Given the description of an element on the screen output the (x, y) to click on. 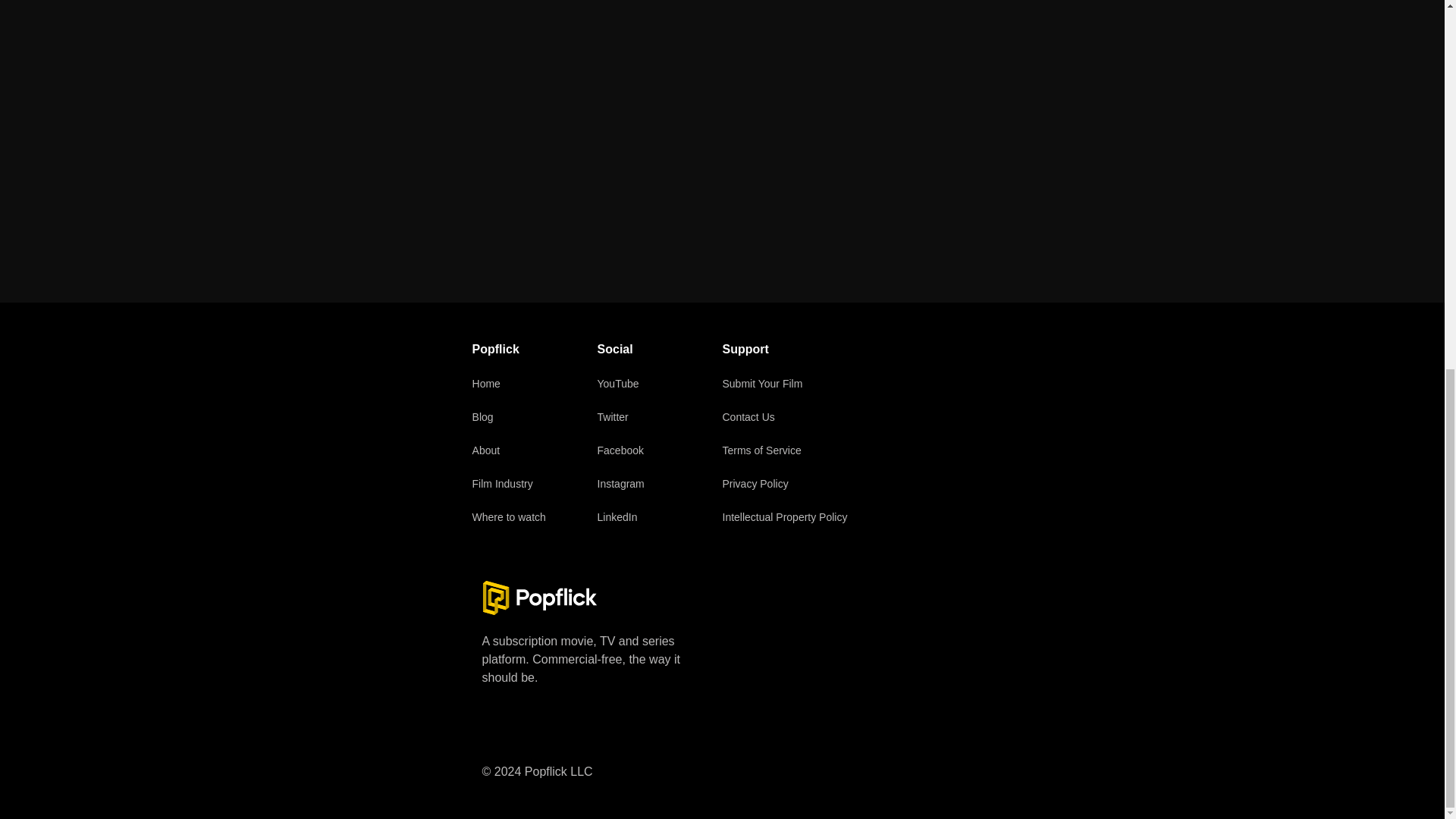
Submit Your Film (762, 383)
Facebook (619, 450)
Contact Us (748, 417)
LinkedIn (616, 517)
Terms of Service (761, 450)
Intellectual Property Policy (784, 517)
About (485, 450)
Film Industry (501, 483)
YouTube (617, 383)
Blog (482, 417)
